Given the description of an element on the screen output the (x, y) to click on. 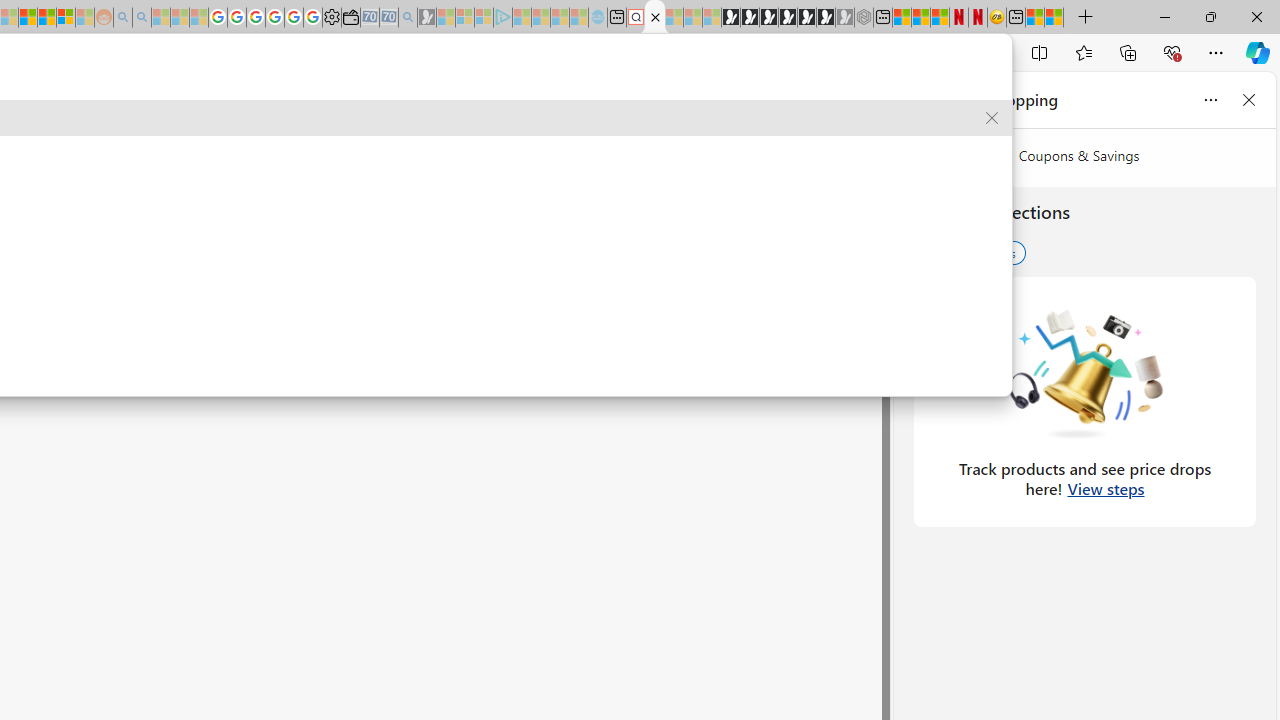
Kinda Frugal - MSN (47, 17)
